Given the description of an element on the screen output the (x, y) to click on. 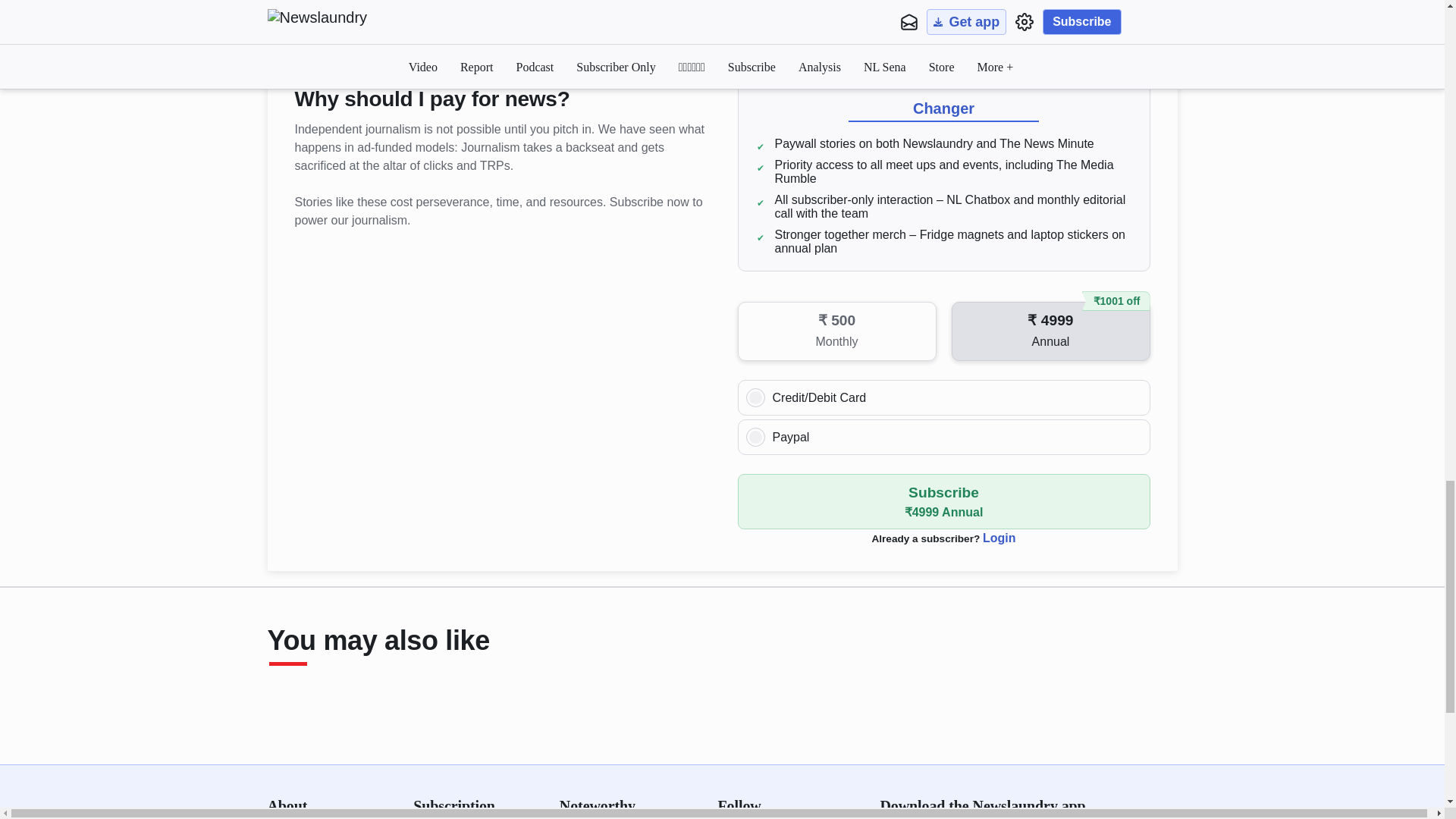
on (755, 397)
on (755, 436)
